Given the description of an element on the screen output the (x, y) to click on. 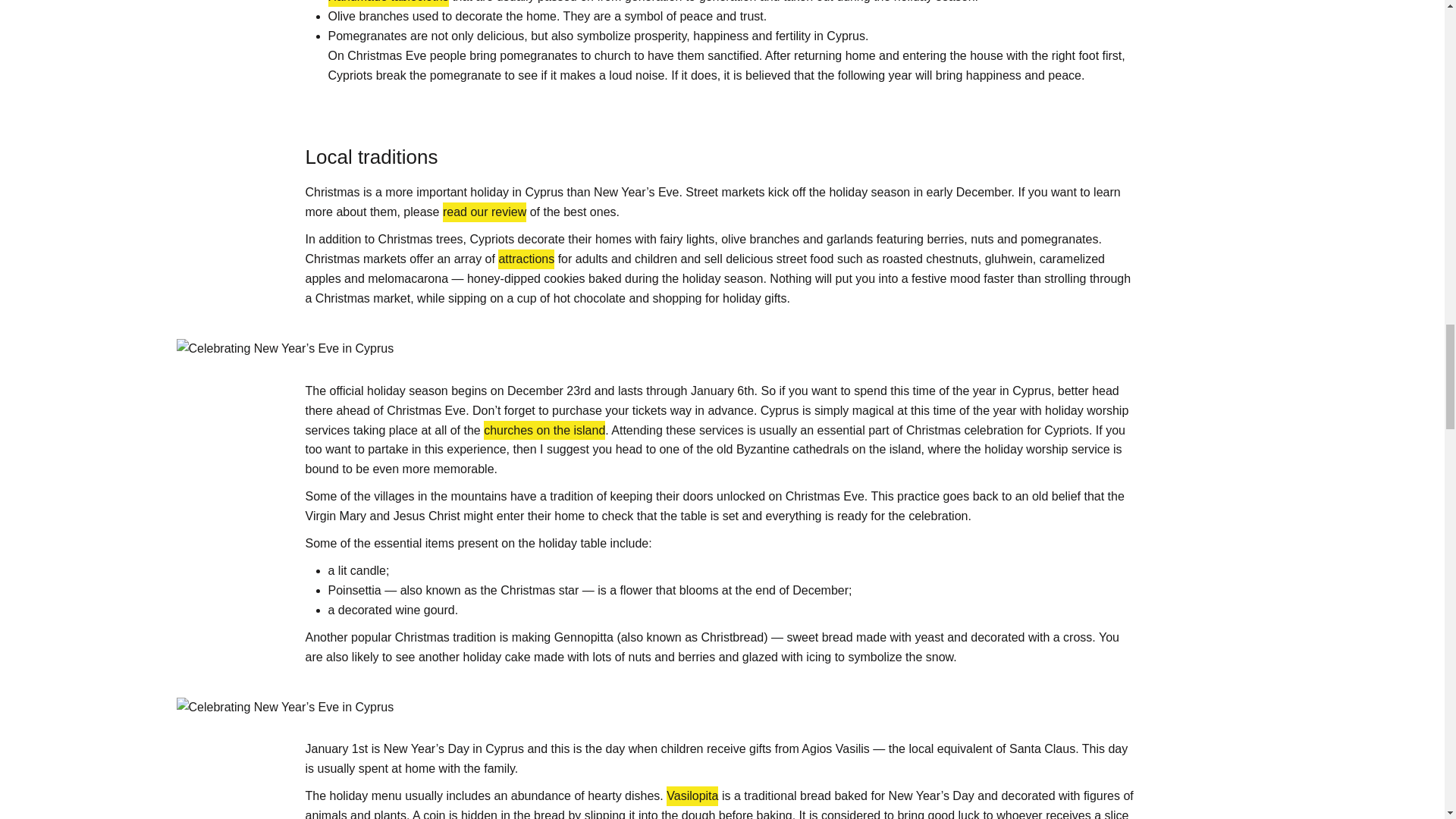
attractions (525, 259)
churches on the island (544, 430)
read our review (483, 211)
Vasilopita (691, 795)
Handmade tablecloths (387, 3)
